Given the description of an element on the screen output the (x, y) to click on. 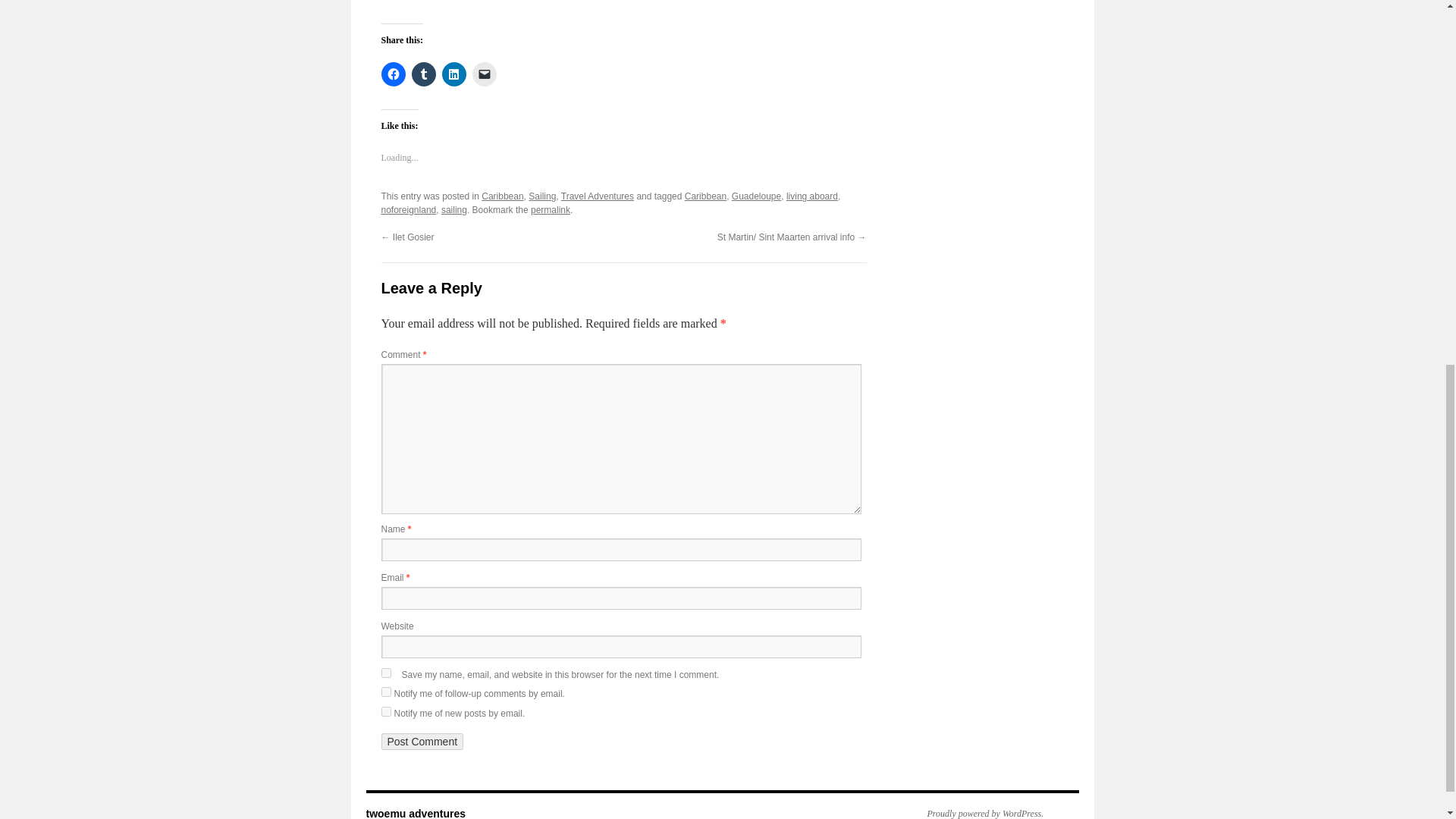
Permalink to noforeignland (550, 209)
Caribbean (705, 195)
living aboard (812, 195)
subscribe (385, 691)
noforeignland (407, 209)
yes (385, 673)
subscribe (385, 711)
Click to share on Tumblr (422, 74)
Post Comment (421, 741)
Click to share on LinkedIn (453, 74)
